Given the description of an element on the screen output the (x, y) to click on. 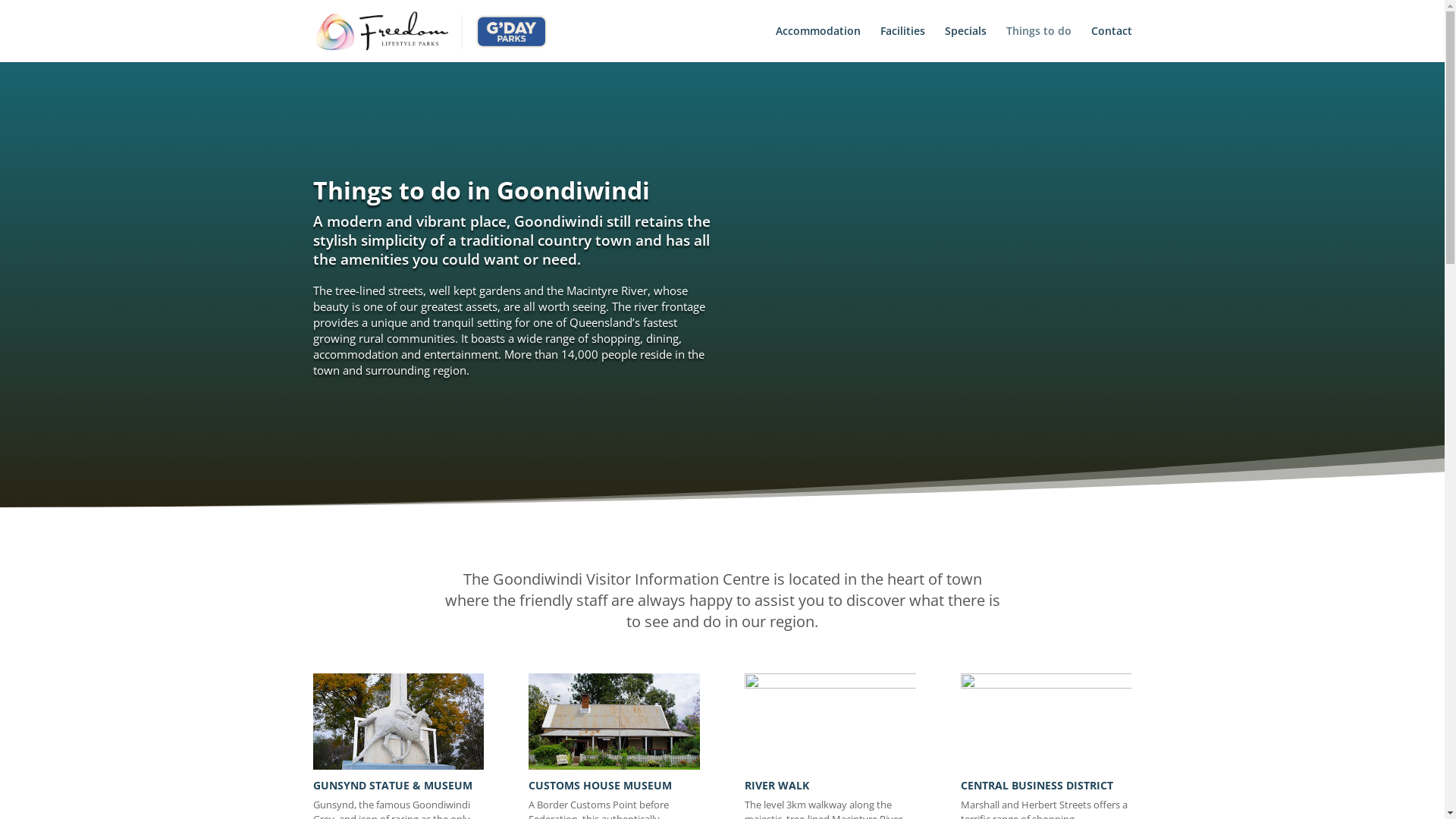
Contact Element type: text (1110, 43)
Specials Element type: text (965, 43)
Facilities Element type: text (901, 43)
Things to do Element type: text (1037, 43)
Accommodation Element type: text (817, 43)
